Given the description of an element on the screen output the (x, y) to click on. 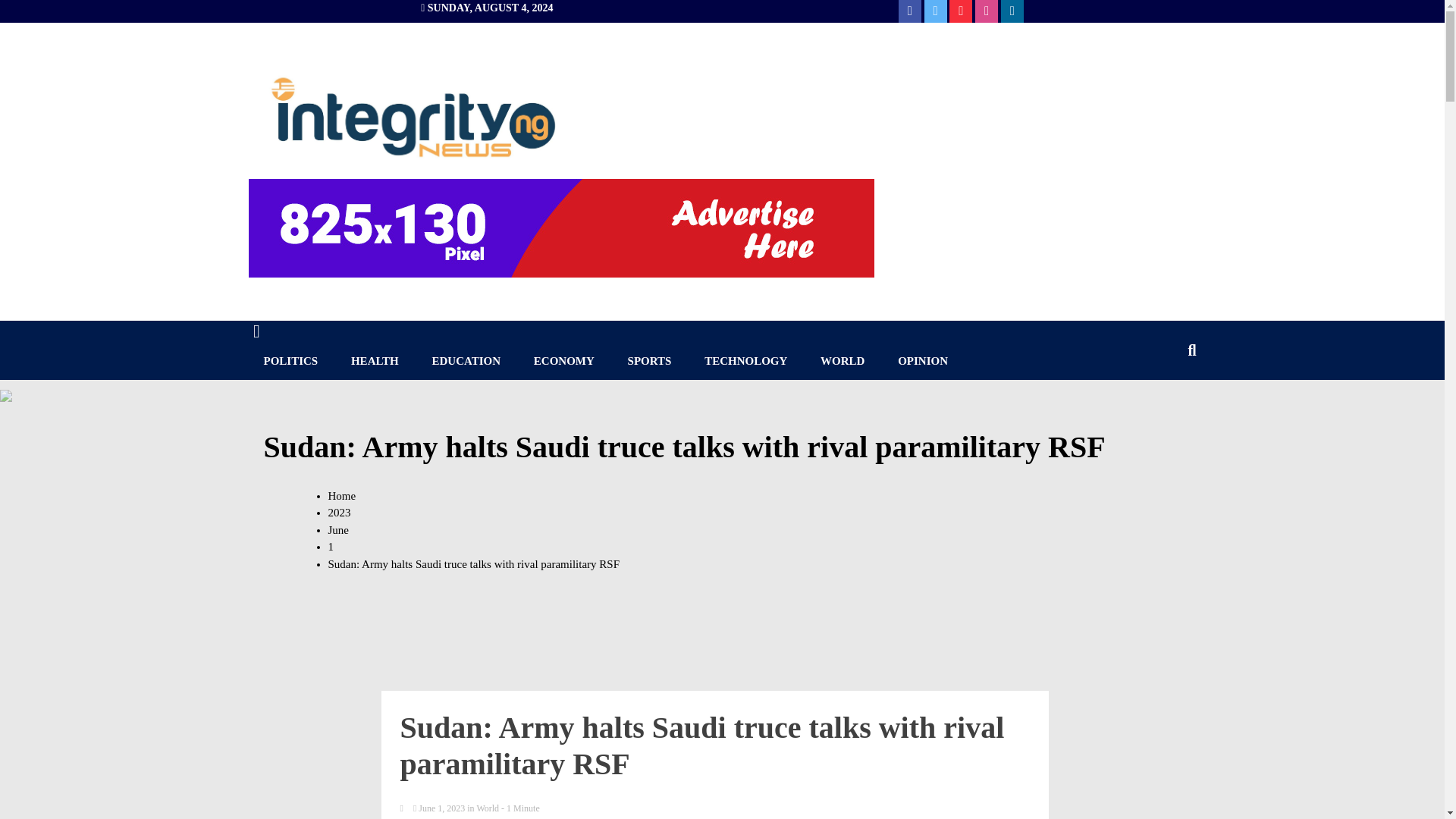
WORLD (842, 361)
Estimated Reading Time of Article (520, 808)
TECHNOLOGY (745, 361)
EDUCATION (466, 361)
SPORTS (649, 361)
OPINION (922, 361)
ECONOMY (564, 361)
HEALTH (374, 361)
POLITICS (290, 361)
